Given the description of an element on the screen output the (x, y) to click on. 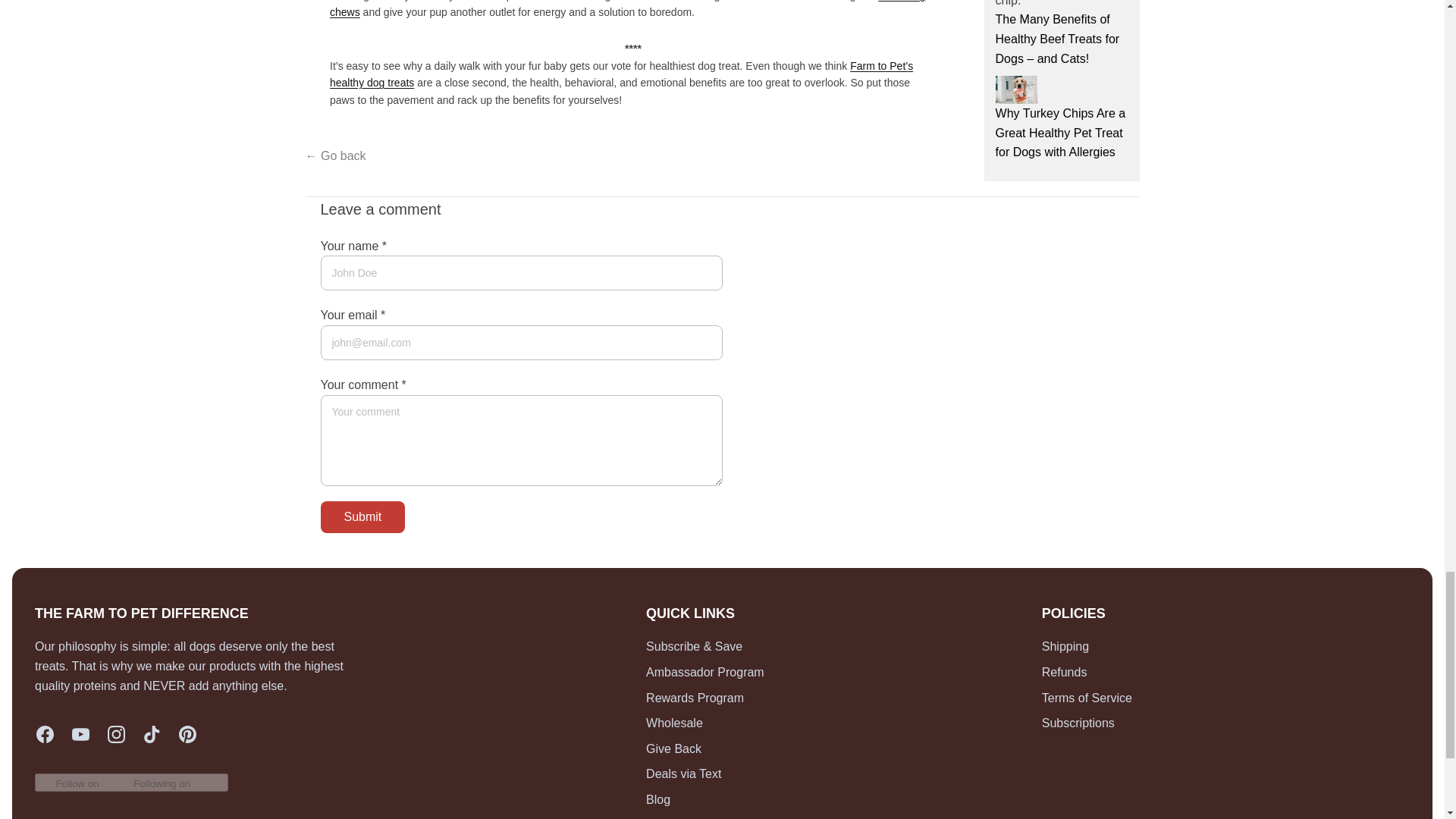
Pinterest (187, 733)
Instagram (116, 733)
Youtube (79, 733)
